Given the description of an element on the screen output the (x, y) to click on. 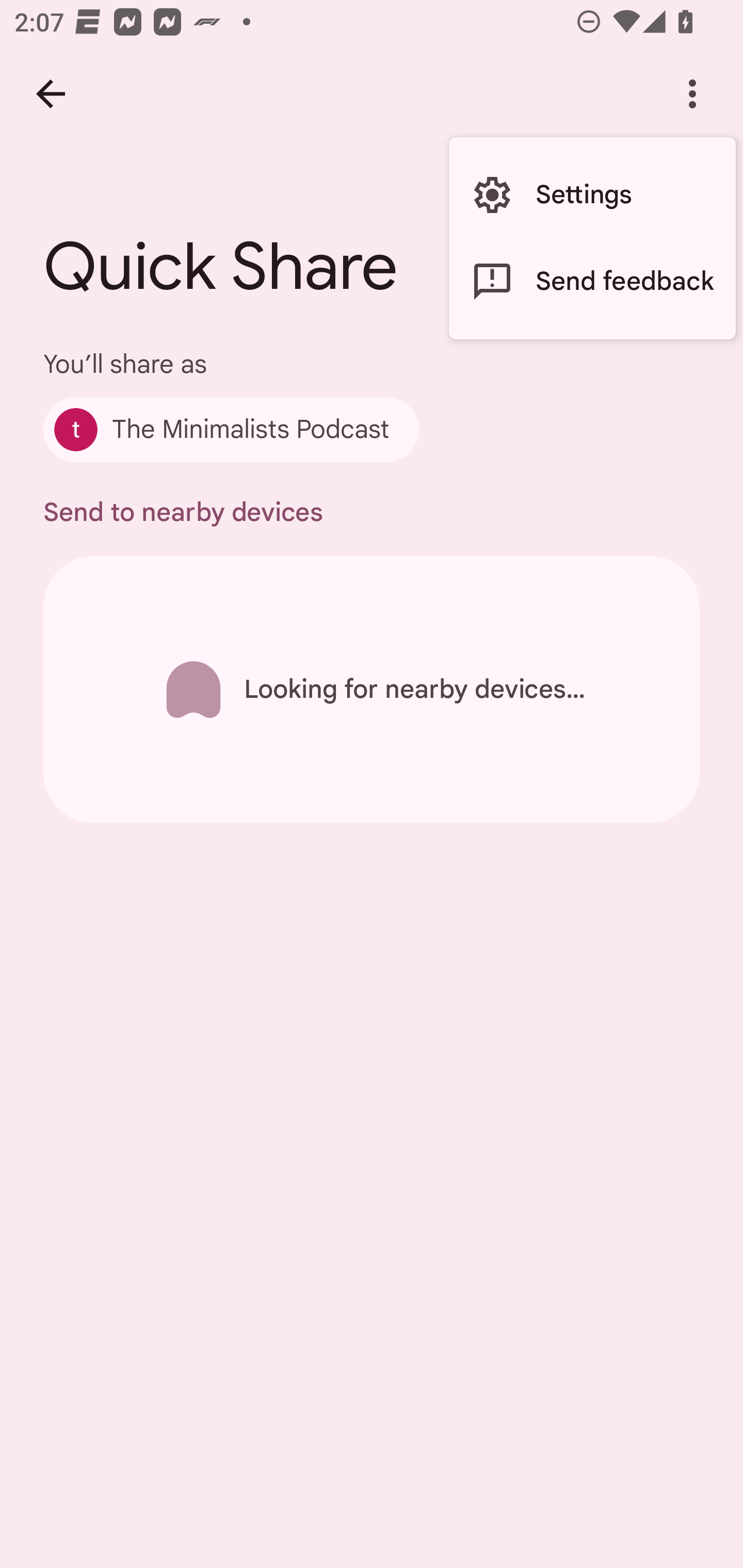
Settings (591, 195)
Send feedback (591, 281)
